Given the description of an element on the screen output the (x, y) to click on. 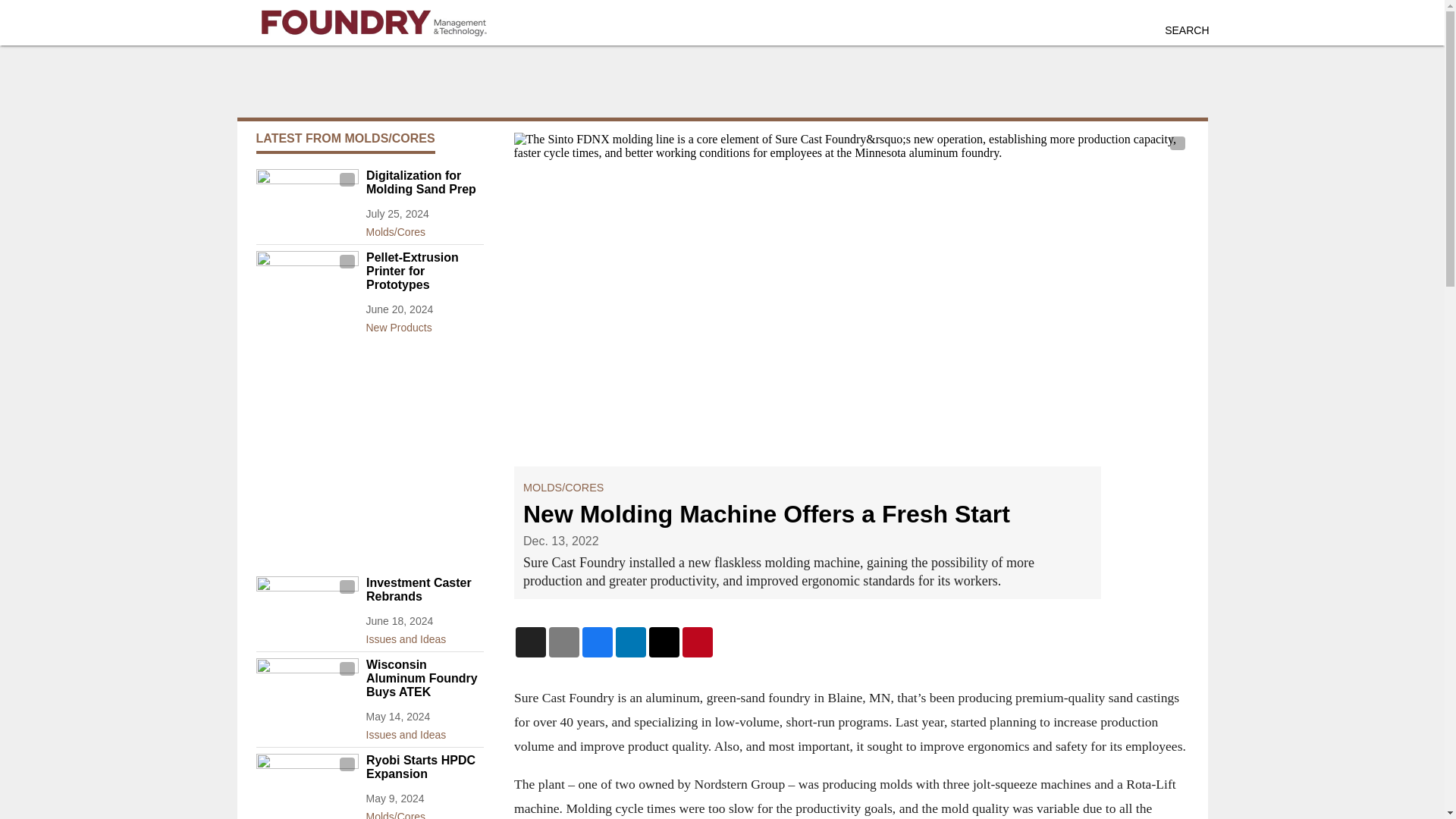
Wisconsin Aluminum Foundry Buys ATEK (424, 678)
Issues and Ideas (424, 636)
Digitalization for Molding Sand Prep (424, 182)
Investment Caster Rebrands (424, 589)
SEARCH (1186, 30)
Issues and Ideas (424, 731)
Ryobi Starts HPDC Expansion (424, 767)
Pellet-Extrusion Printer for Prototypes (424, 270)
New Products (424, 324)
